Given the description of an element on the screen output the (x, y) to click on. 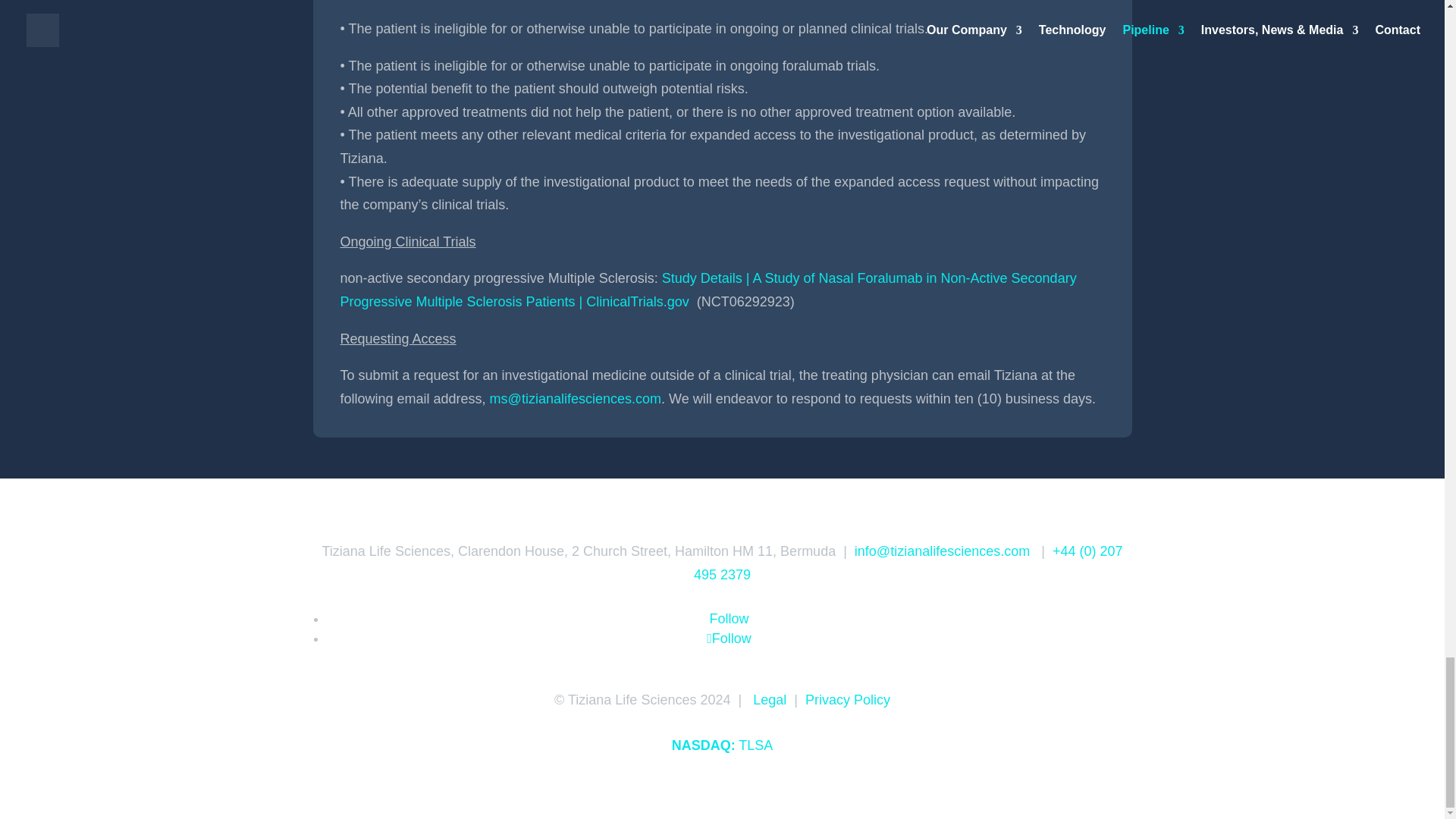
Follow (728, 618)
Follow (728, 638)
Legal (769, 699)
Follow on X (728, 638)
NASDAQ: TLSA (722, 744)
Follow on LinkedIn (728, 618)
Privacy Policy (847, 699)
